Given the description of an element on the screen output the (x, y) to click on. 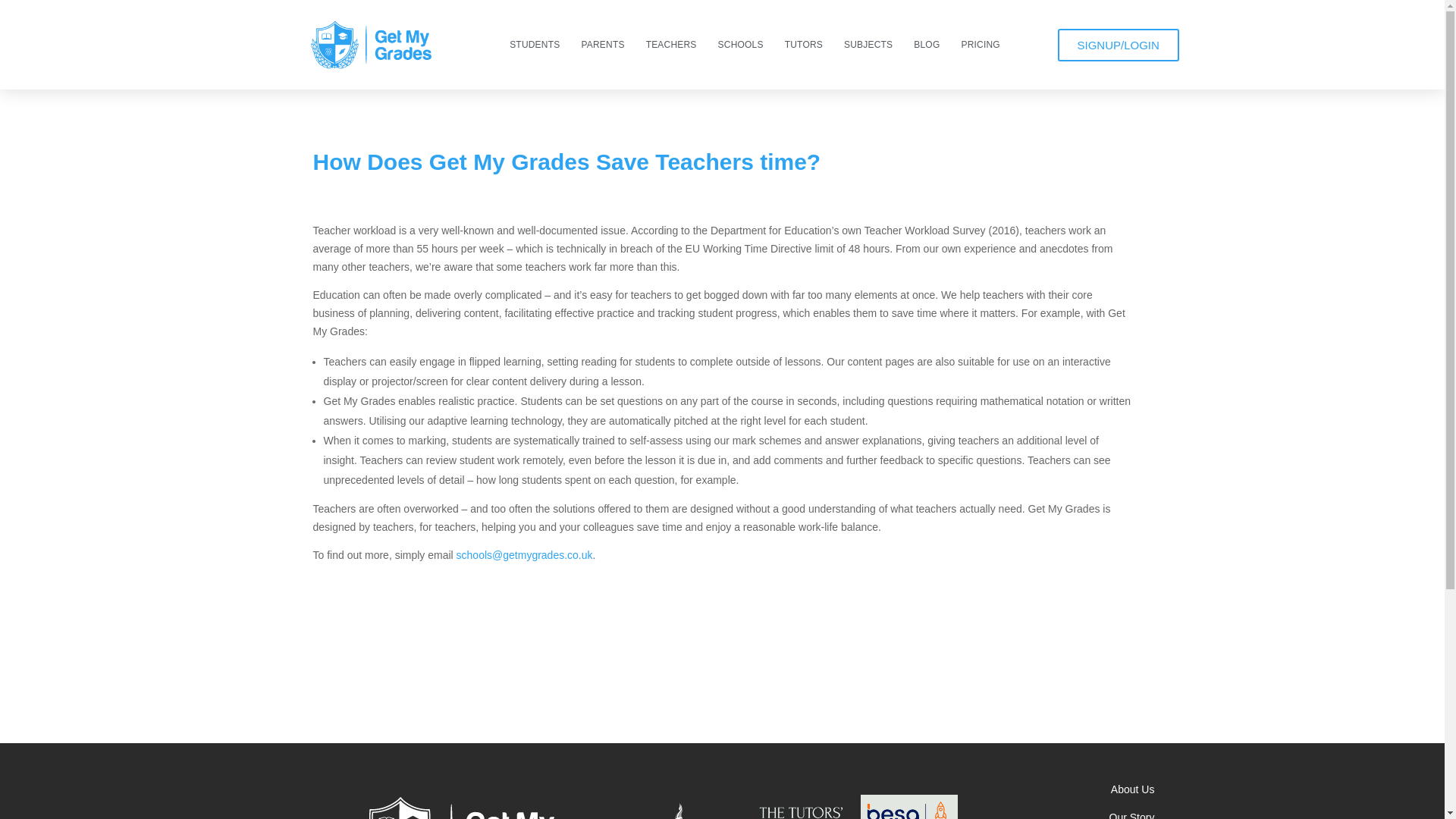
PRICING (980, 44)
PARENTS (602, 44)
SCHOOLS (740, 44)
STUDENTS (534, 44)
TEACHERS (670, 44)
SUBJECTS (867, 44)
TUTORS (803, 44)
